Given the description of an element on the screen output the (x, y) to click on. 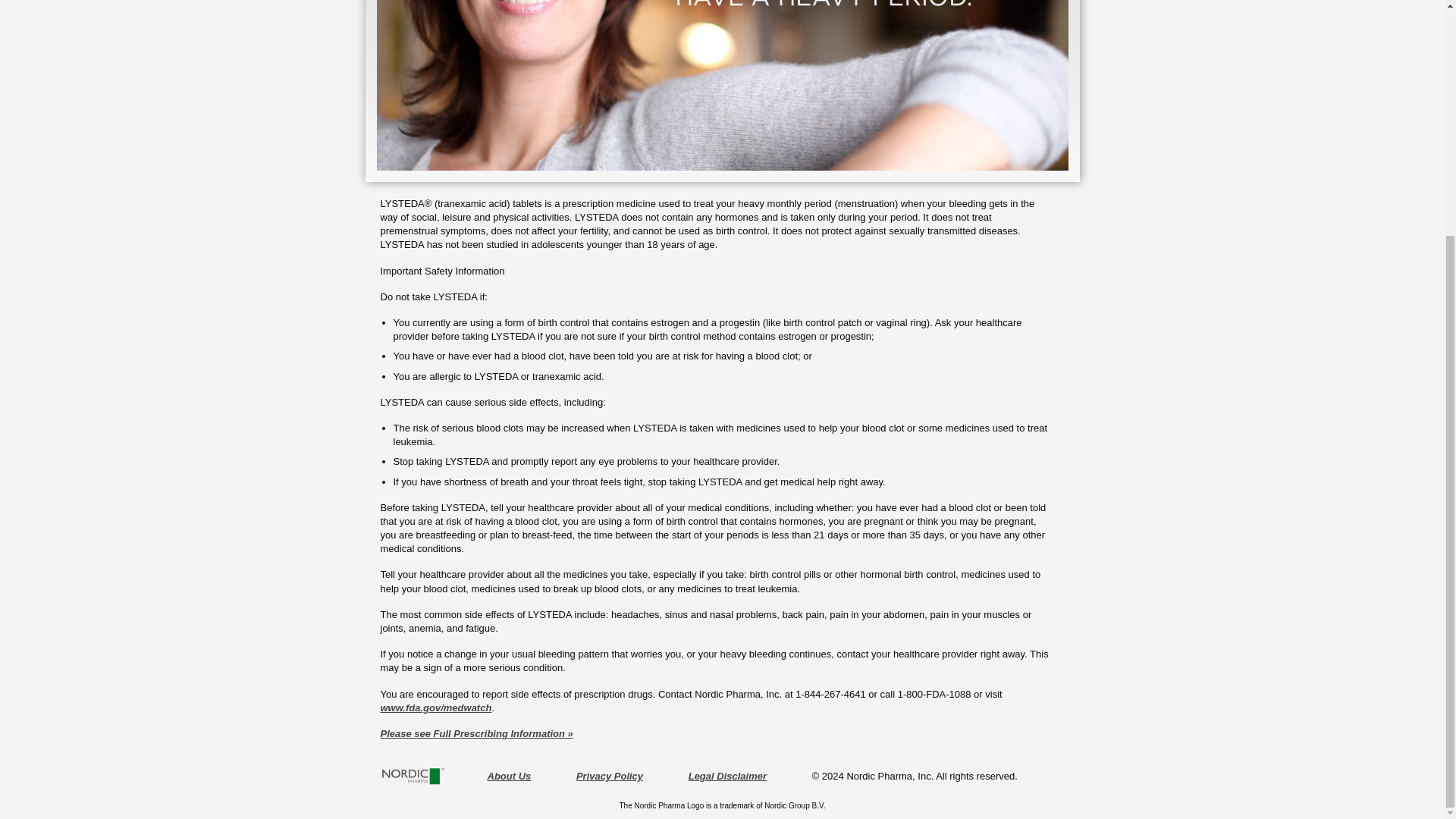
Legal Disclaimer (727, 776)
Privacy Policy (609, 776)
About Us (508, 776)
